Given the description of an element on the screen output the (x, y) to click on. 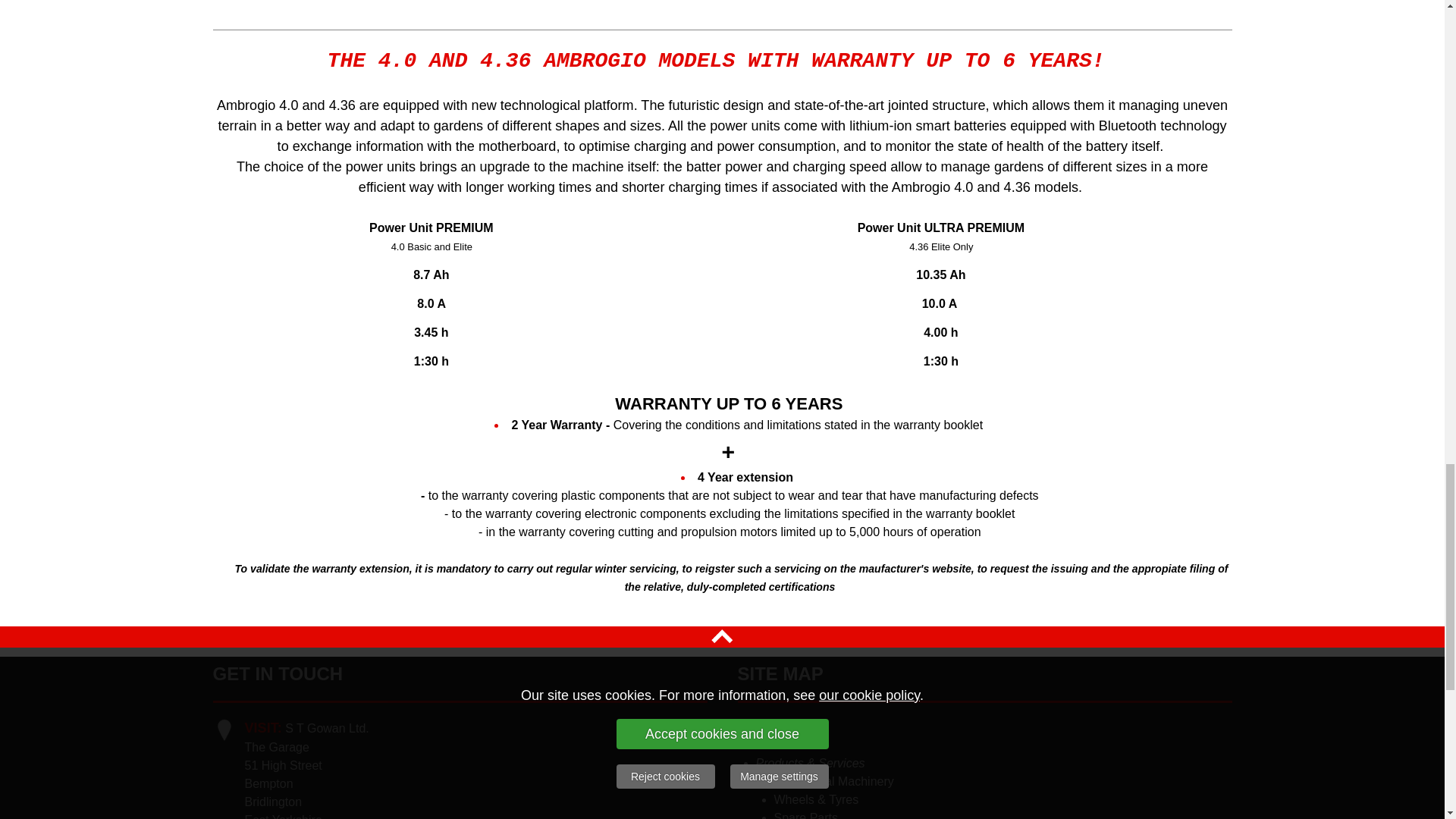
About (771, 744)
Home (771, 726)
Spare Parts (805, 815)
Agricultural Machinery (833, 780)
